Given the description of an element on the screen output the (x, y) to click on. 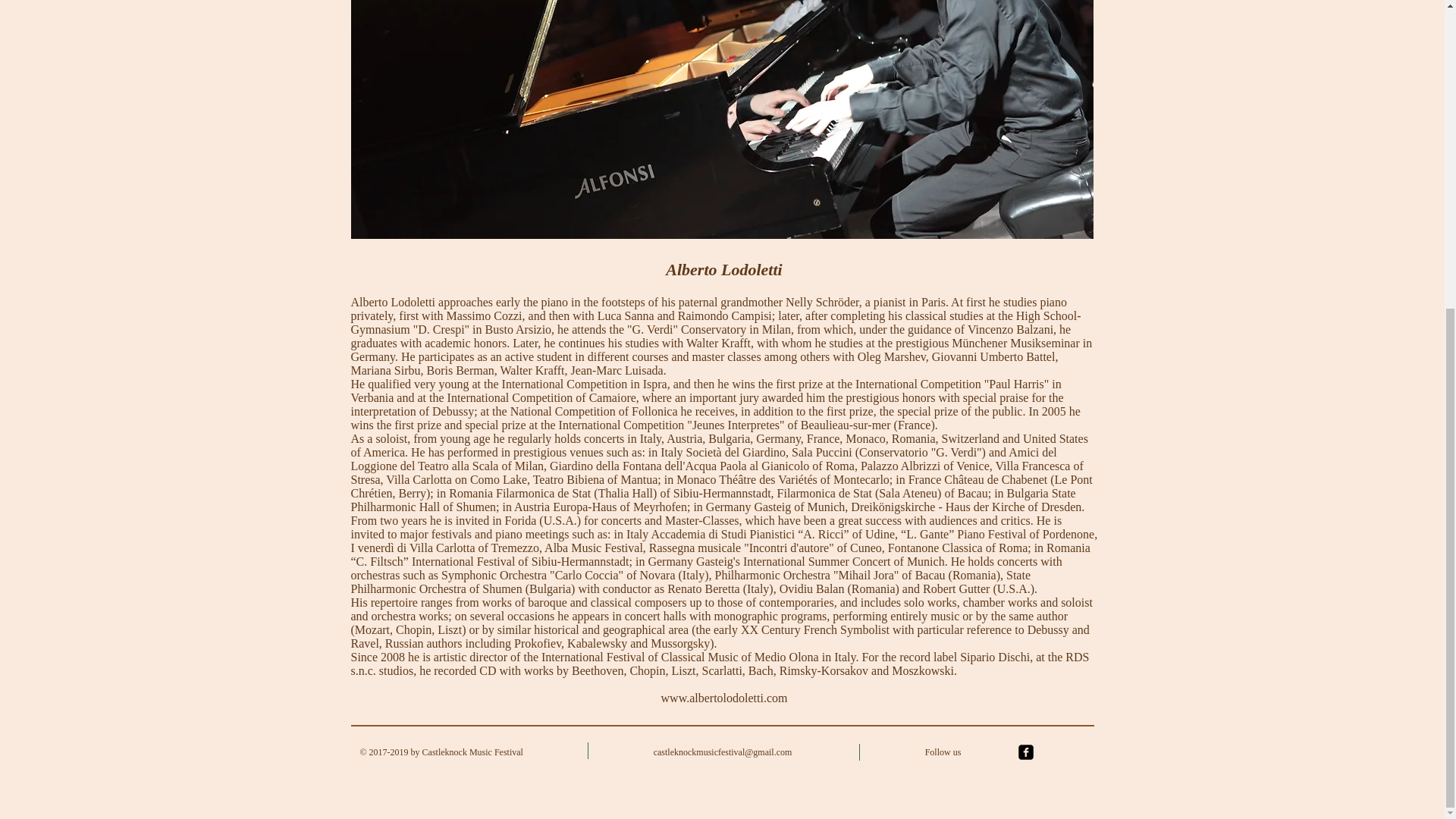
www.albertolodoletti.com (724, 697)
